Given the description of an element on the screen output the (x, y) to click on. 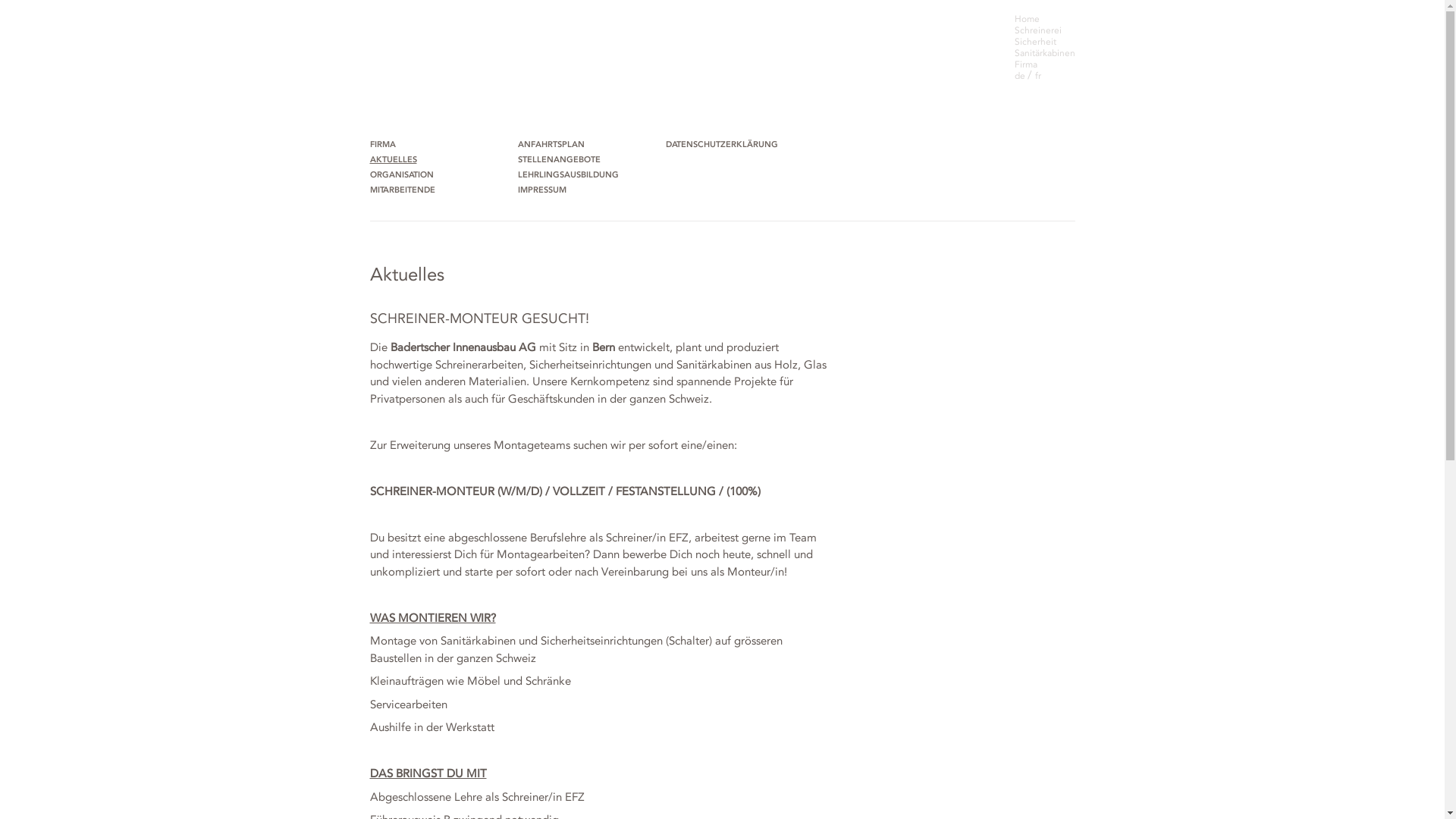
ANFAHRTSPLAN Element type: text (551, 144)
LEHRLINGSAUSBILDUNG Element type: text (568, 175)
Firma Element type: text (1025, 64)
AKTUELLES Element type: text (394, 160)
Sicherheit Element type: text (1035, 41)
de Element type: text (1020, 75)
fr Element type: text (1037, 75)
STELLENANGEBOTE Element type: text (559, 160)
Schreinerei Element type: text (1037, 30)
MITARBEITENDE Element type: text (403, 190)
FIRMA Element type: text (383, 144)
IMPRESSUM Element type: text (542, 190)
ORGANISATION Element type: text (402, 175)
Home Element type: text (1026, 18)
